Given the description of an element on the screen output the (x, y) to click on. 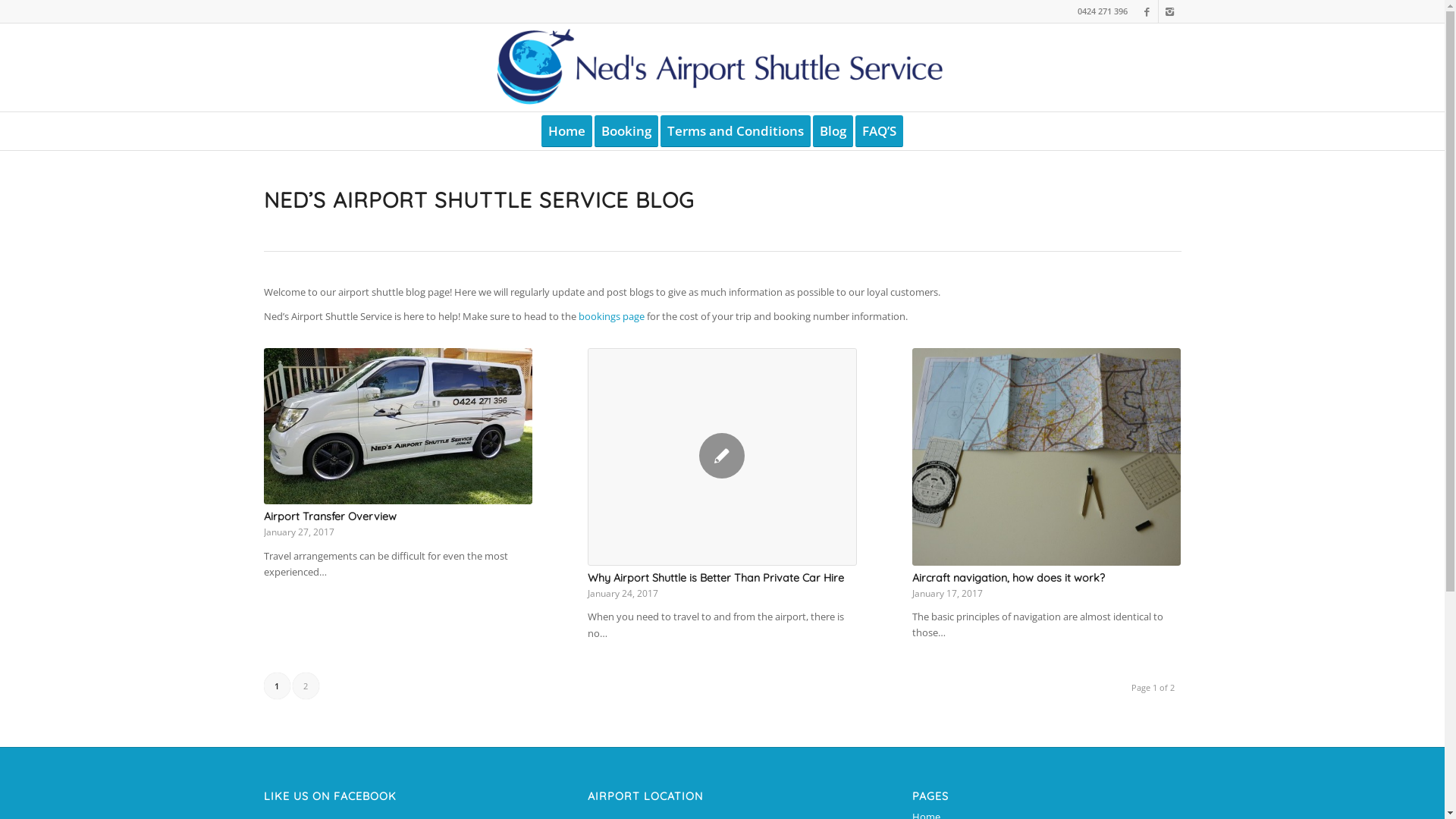
2 Element type: text (305, 685)
Booking Element type: text (631, 131)
Why Airport Shuttle is Better Than Private Car Hire Element type: text (715, 577)
Aircraft navigation, how does it work? Element type: text (1008, 577)
Instagram Element type: hover (1169, 11)
Airport Transfer Overview Element type: text (329, 516)
Terms and Conditions Element type: text (740, 131)
Home Element type: text (566, 131)
Blog Element type: text (837, 131)
Facebook Element type: hover (1146, 11)
bookings page Element type: text (610, 316)
